Given the description of an element on the screen output the (x, y) to click on. 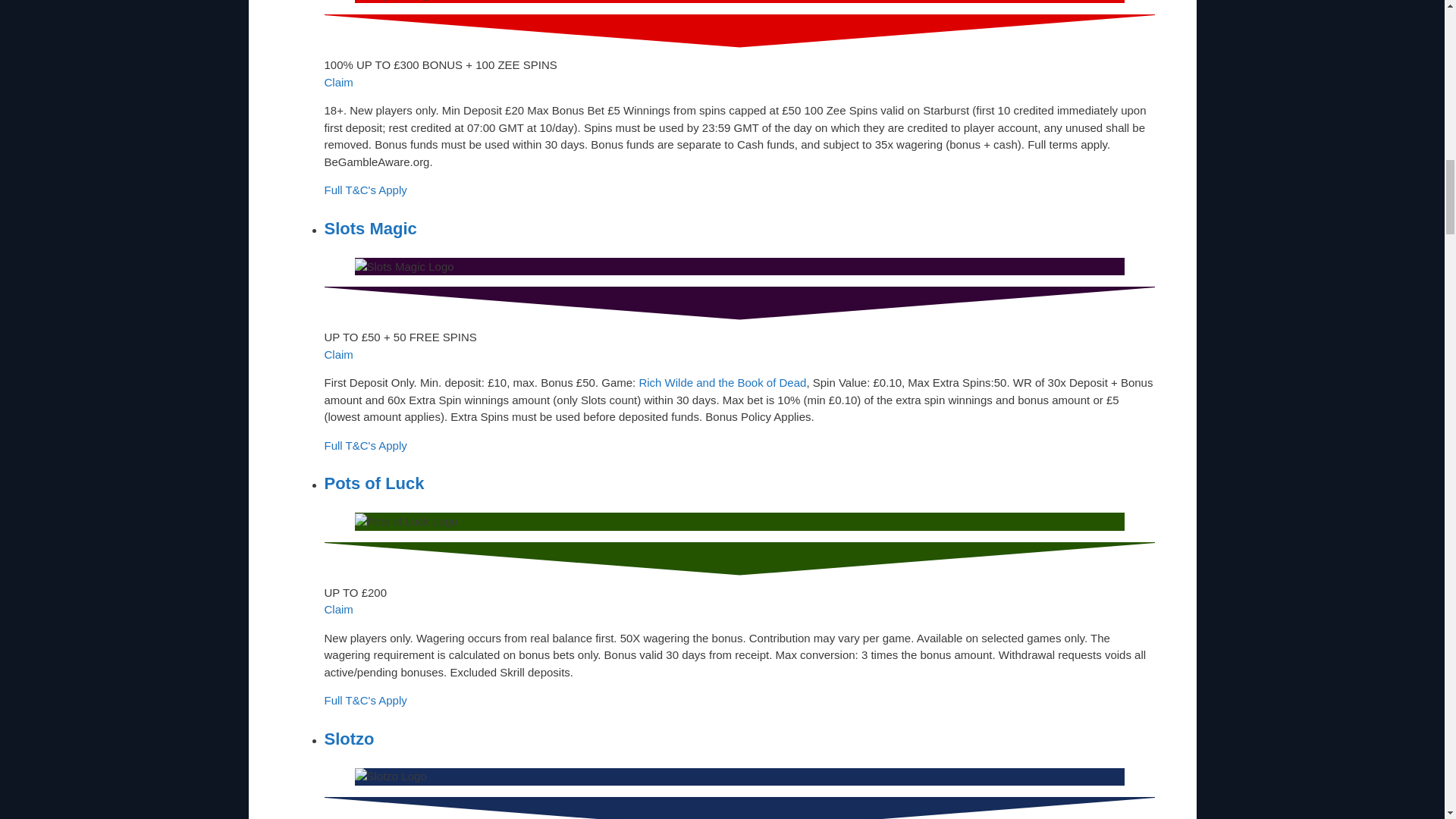
Slotzo Logo (390, 776)
Pots-of-luck-casino (406, 521)
Slots-magic (404, 267)
Playzee (395, 2)
